Given the description of an element on the screen output the (x, y) to click on. 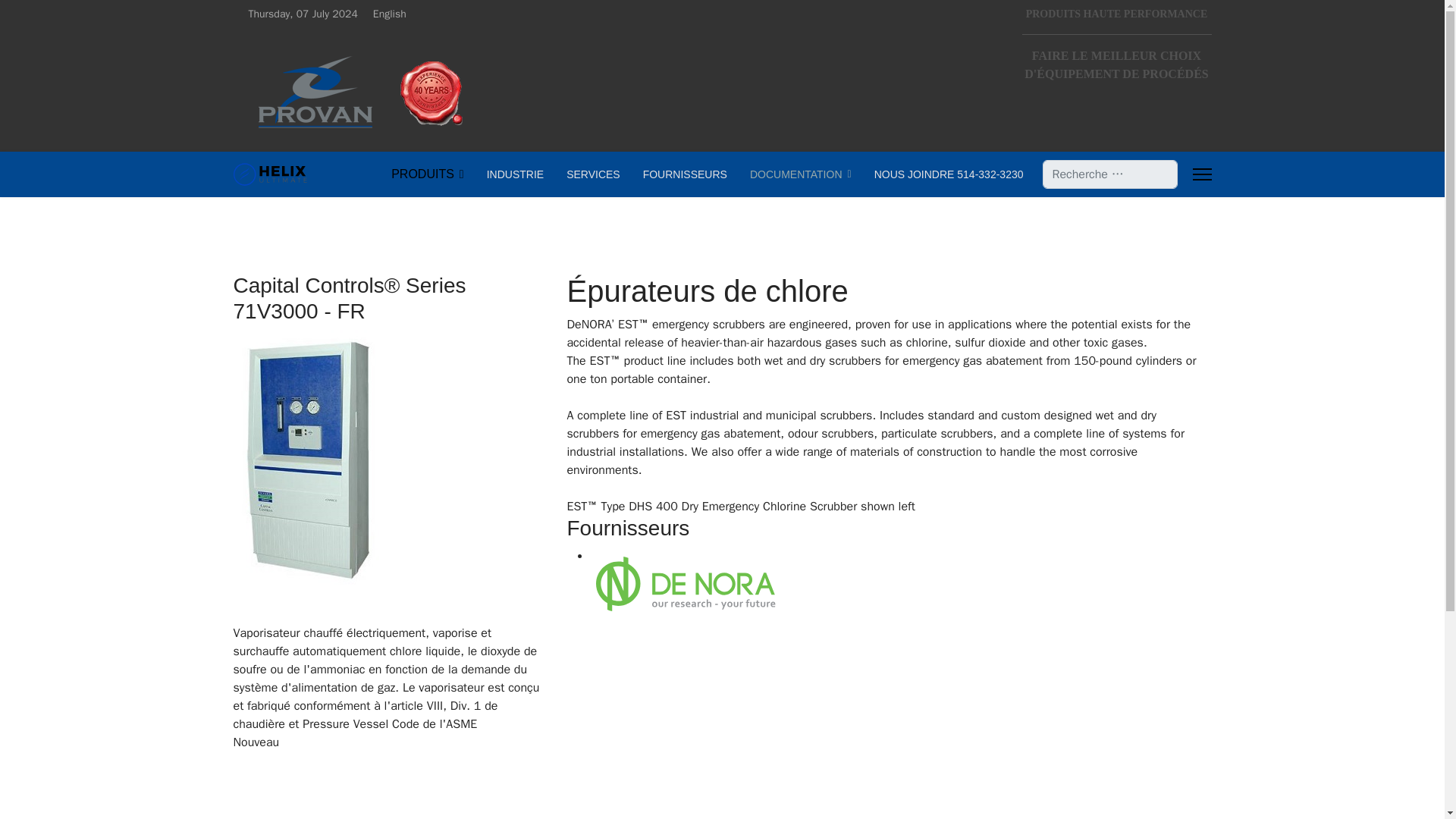
INDUSTRIE (515, 174)
English (392, 13)
NOUS JOINDRE 514-332-3230 (943, 174)
PRODUITS (428, 174)
FOURNISSEURS (684, 174)
SERVICES (592, 174)
